Given the description of an element on the screen output the (x, y) to click on. 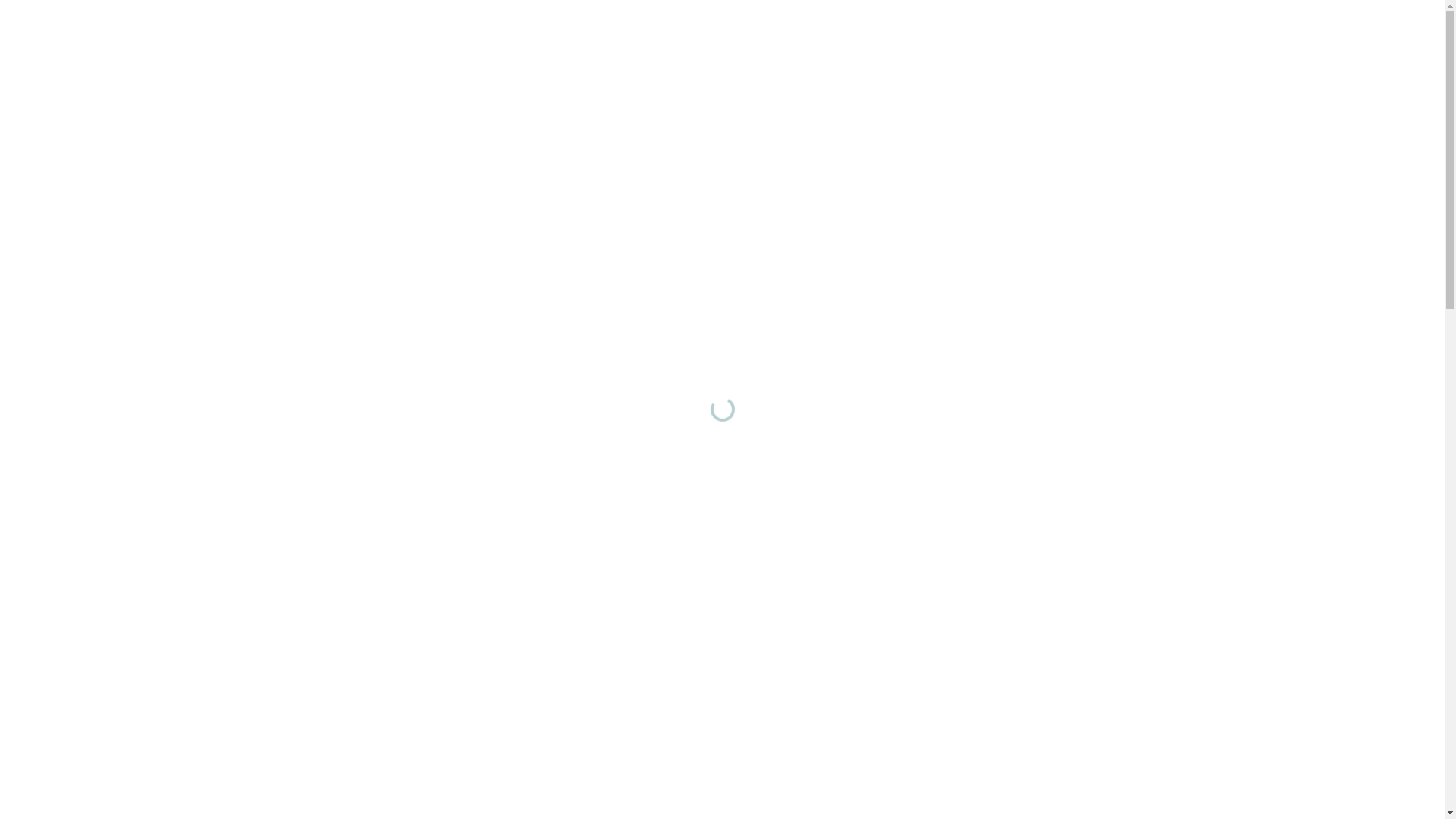
Account Element type: text (1125, 37)
To top Element type: text (1201, 799)
Company Pro Class Element type: text (341, 224)
Make It Happen Element type: text (353, 351)
Join Us Element type: text (309, 799)
Menu Element type: text (1198, 37)
Connect Element type: text (374, 394)
Dance Makers Collective Element type: text (347, 37)
One Night for Dance Element type: text (339, 266)
Register Now Element type: text (529, 461)
Rapport Element type: text (375, 479)
Cart Element type: text (1161, 37)
Thrive Element type: text (381, 181)
Sign up Element type: text (256, 799)
Pitch Lab Element type: text (372, 436)
Dance On Element type: text (370, 564)
Detour Element type: text (378, 521)
Future Makers Element type: text (358, 309)
